Given the description of an element on the screen output the (x, y) to click on. 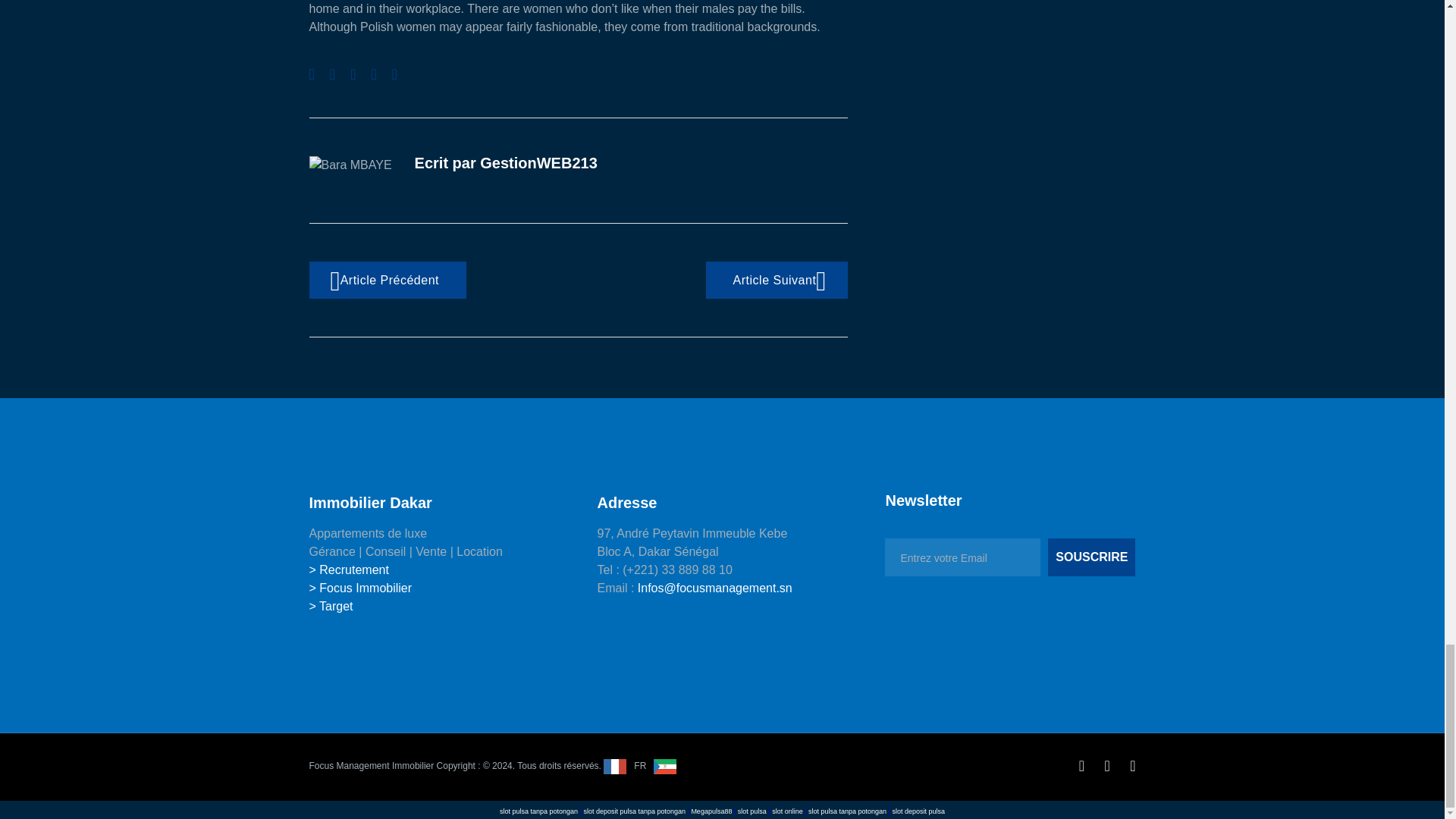
Articles par GestionWEB213 (538, 162)
Language switcher : e (671, 765)
